Given the description of an element on the screen output the (x, y) to click on. 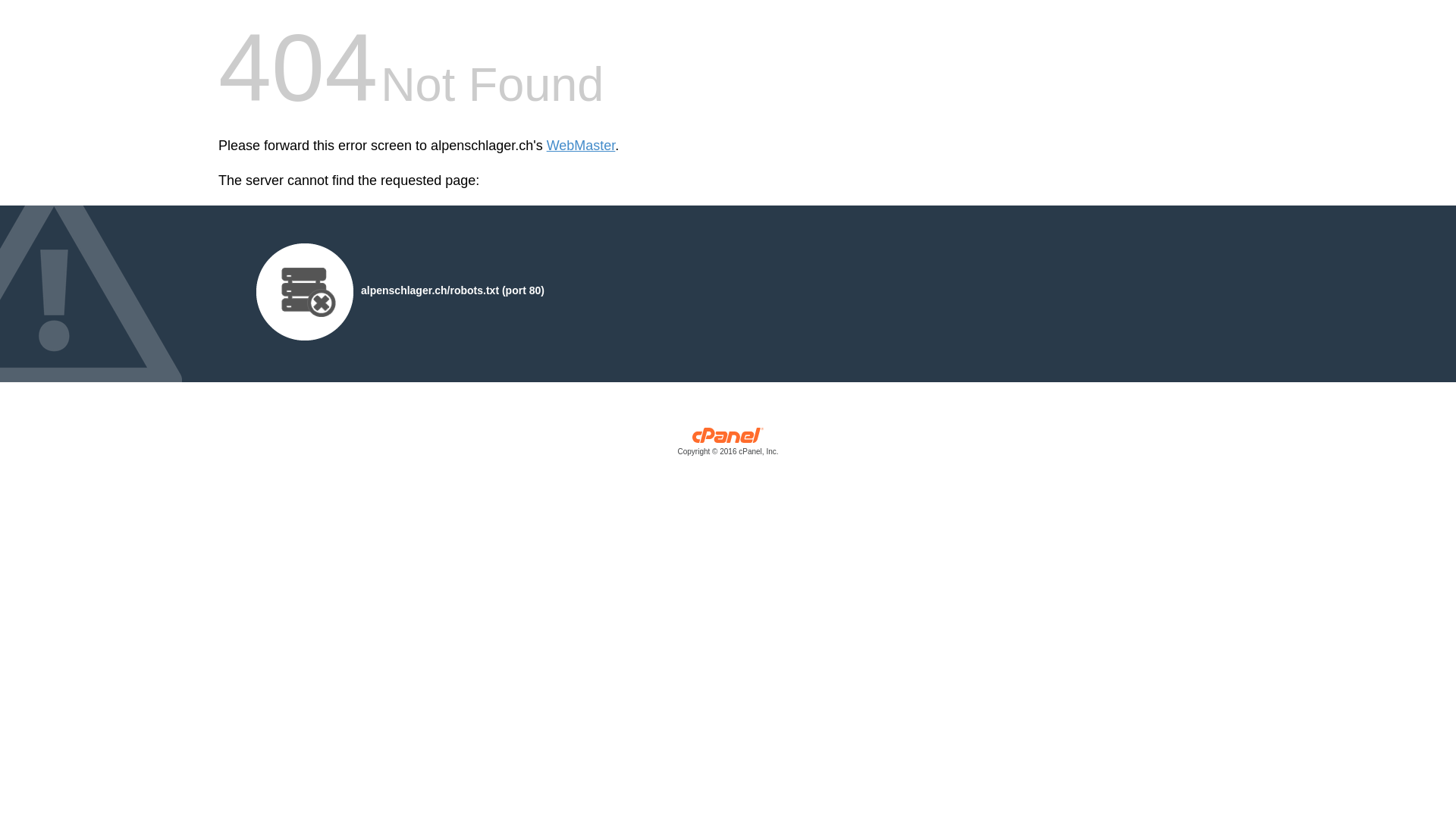
WebMaster Element type: text (580, 145)
